Given the description of an element on the screen output the (x, y) to click on. 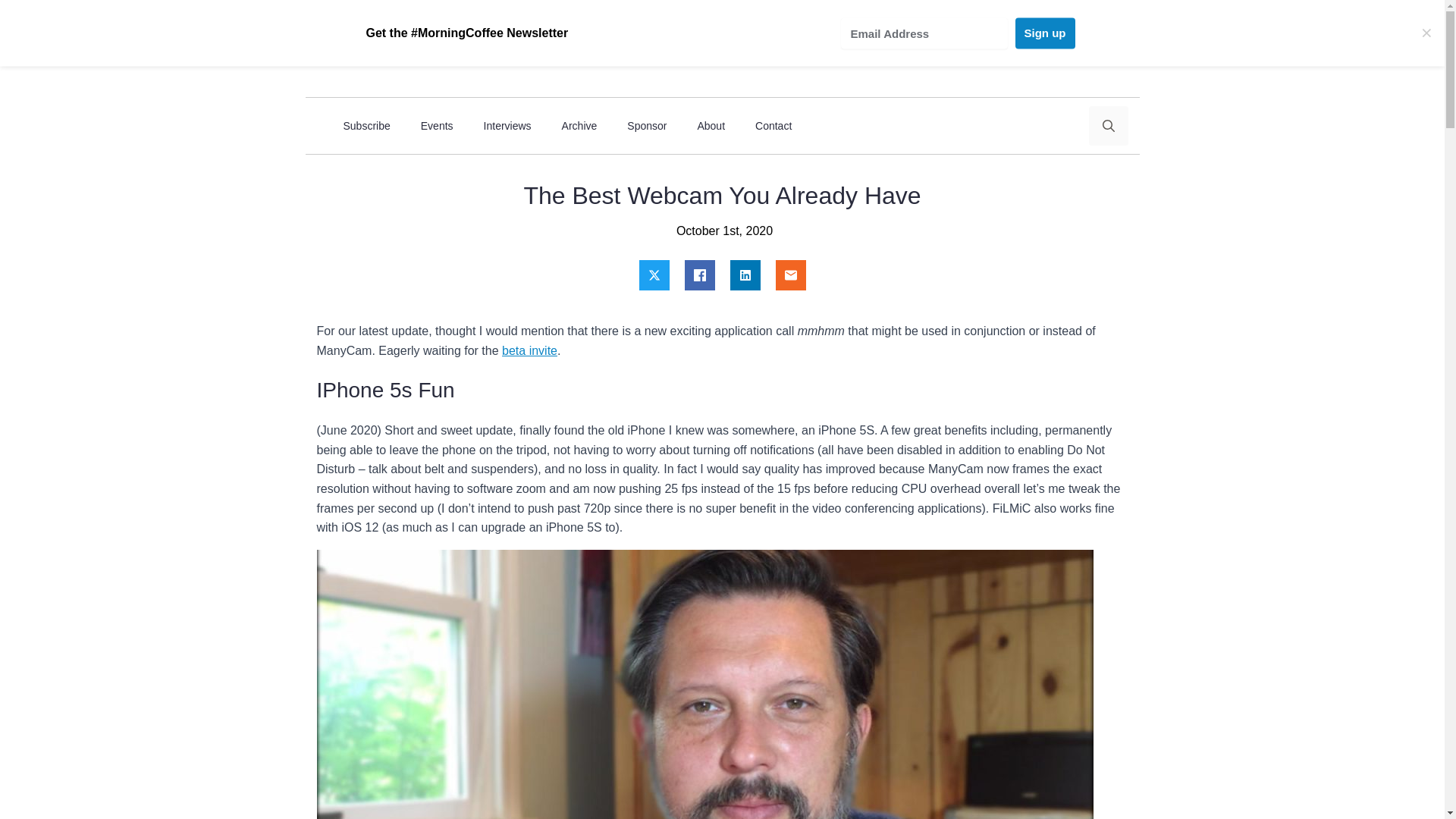
Sponsor (646, 125)
Interviews (507, 125)
ROBERT JACOBI (438, 44)
Archive (579, 125)
Contact (772, 125)
About (710, 125)
Events (437, 125)
beta invite (529, 350)
Subscribe (365, 125)
